Given the description of an element on the screen output the (x, y) to click on. 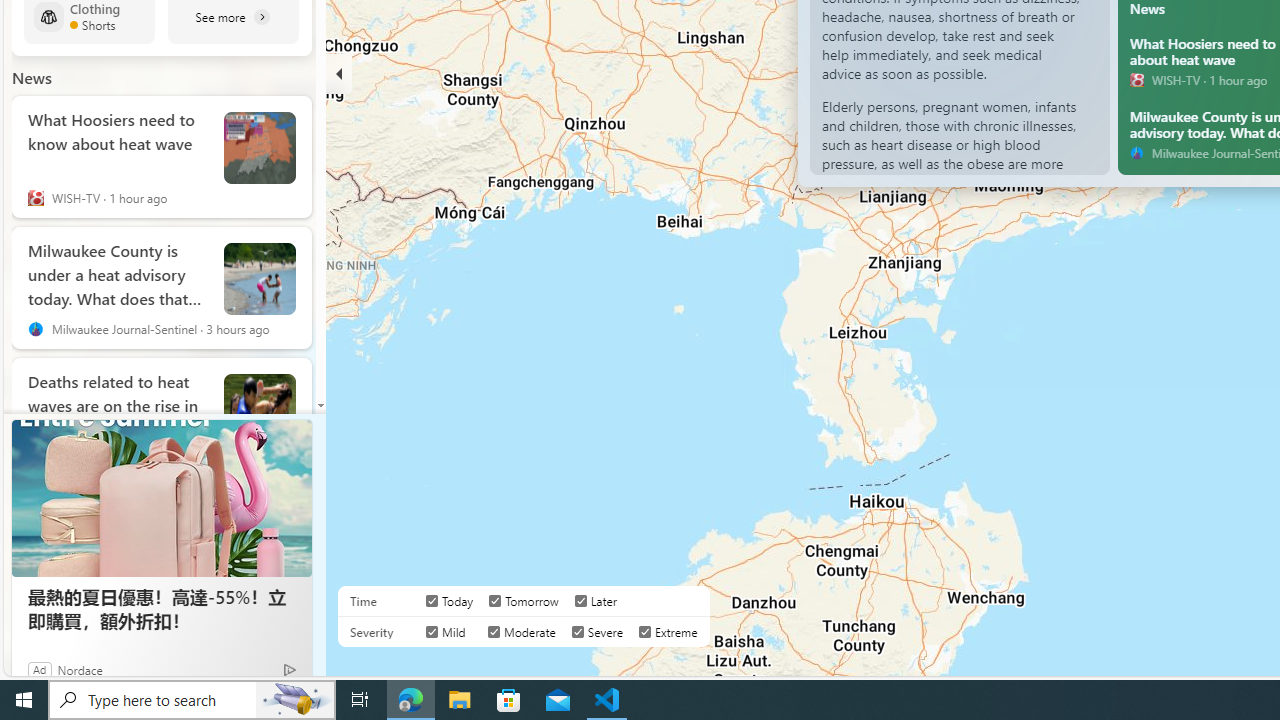
What Hoosiers need to know about heat wave (117, 139)
Deaths related to heat waves are on the rise in U.S. (117, 401)
Hide (339, 73)
What Hoosiers need to know about heat wave (259, 148)
